Given the description of an element on the screen output the (x, y) to click on. 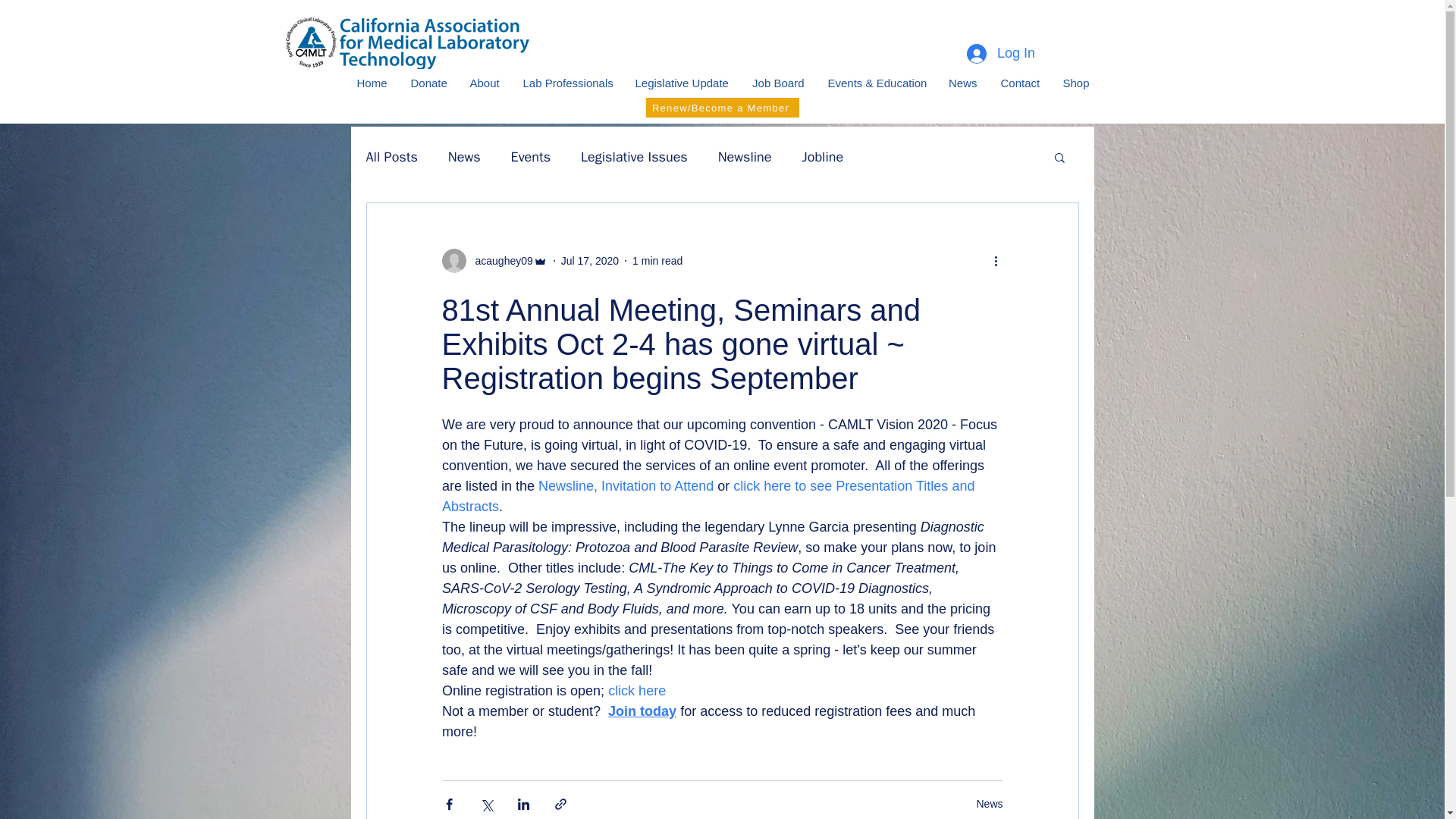
Lab Professionals (567, 83)
Jul 17, 2020 (589, 260)
1 min read (656, 260)
Newsline (744, 157)
Job Board (777, 83)
Newsline, Invitation to Attend (625, 485)
News (464, 157)
About (484, 83)
All Posts (390, 157)
click here to see Presentation Titles and Abstracts (708, 496)
